Given the description of an element on the screen output the (x, y) to click on. 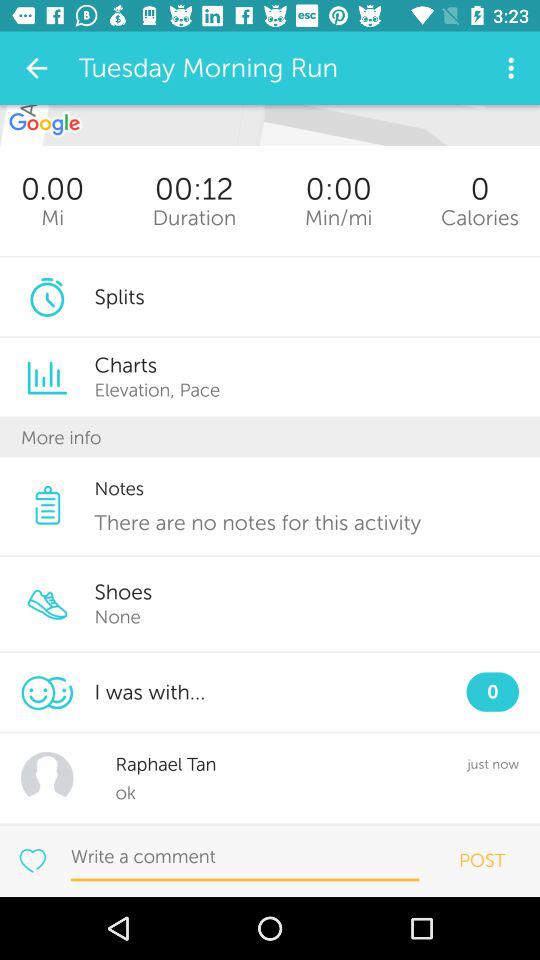
tap icon next to the 0:00 (194, 217)
